Given the description of an element on the screen output the (x, y) to click on. 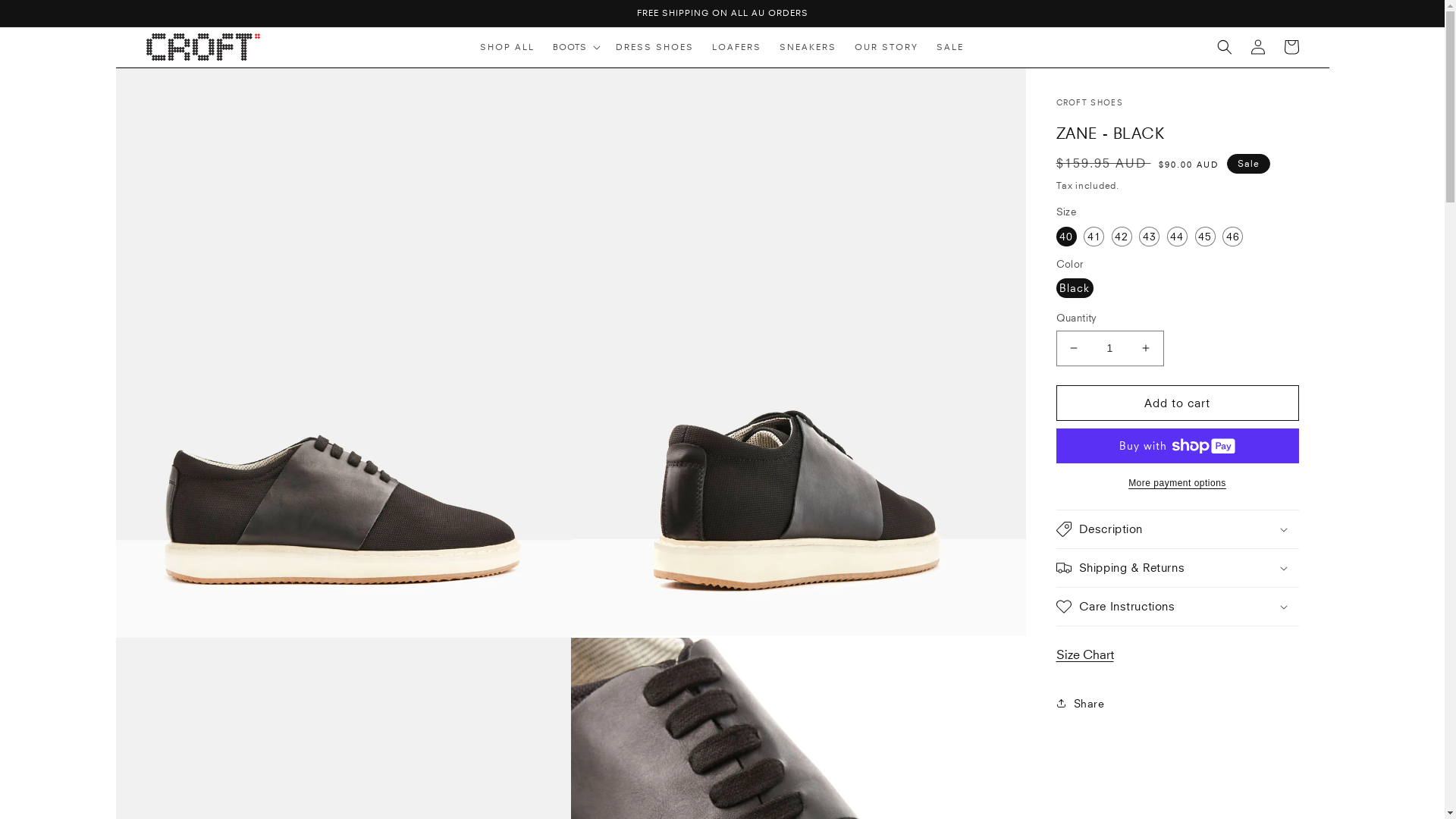
More payment options Element type: text (1176, 482)
OUR STORY Element type: text (886, 47)
DRESS SHOES Element type: text (654, 47)
Cart Element type: text (1290, 46)
https://croftshoes.com.au/products/zane-black Element type: text (1146, 753)
Log in Element type: text (1257, 46)
SNEAKERS Element type: text (807, 47)
LOAFERS Element type: text (736, 47)
Decrease quantity for ZANE - BLACK Element type: text (1074, 348)
SHOP ALL Element type: text (506, 47)
Add to cart Element type: text (1176, 402)
Size Chart Element type: text (1089, 654)
SALE Element type: text (949, 47)
Increase quantity for ZANE - BLACK Element type: text (1145, 348)
Skip to product information Element type: text (161, 85)
